Given the description of an element on the screen output the (x, y) to click on. 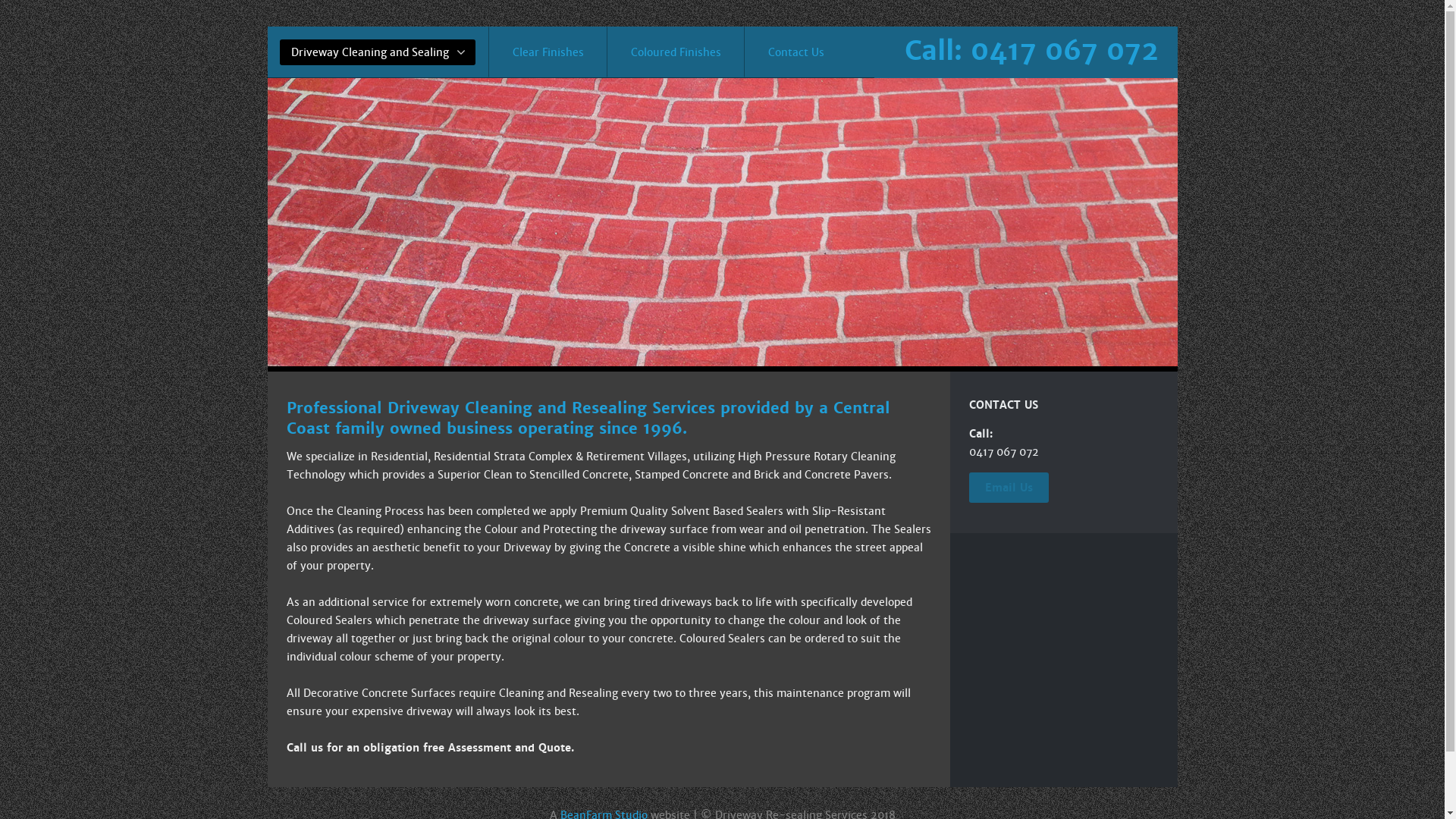
Contact Us Element type: text (795, 51)
Coloured Finishes Element type: text (675, 51)
Driveway Cleaning and Sealing Element type: text (378, 51)
Email Us Element type: text (1008, 487)
Clear Finishes Element type: text (547, 51)
